Given the description of an element on the screen output the (x, y) to click on. 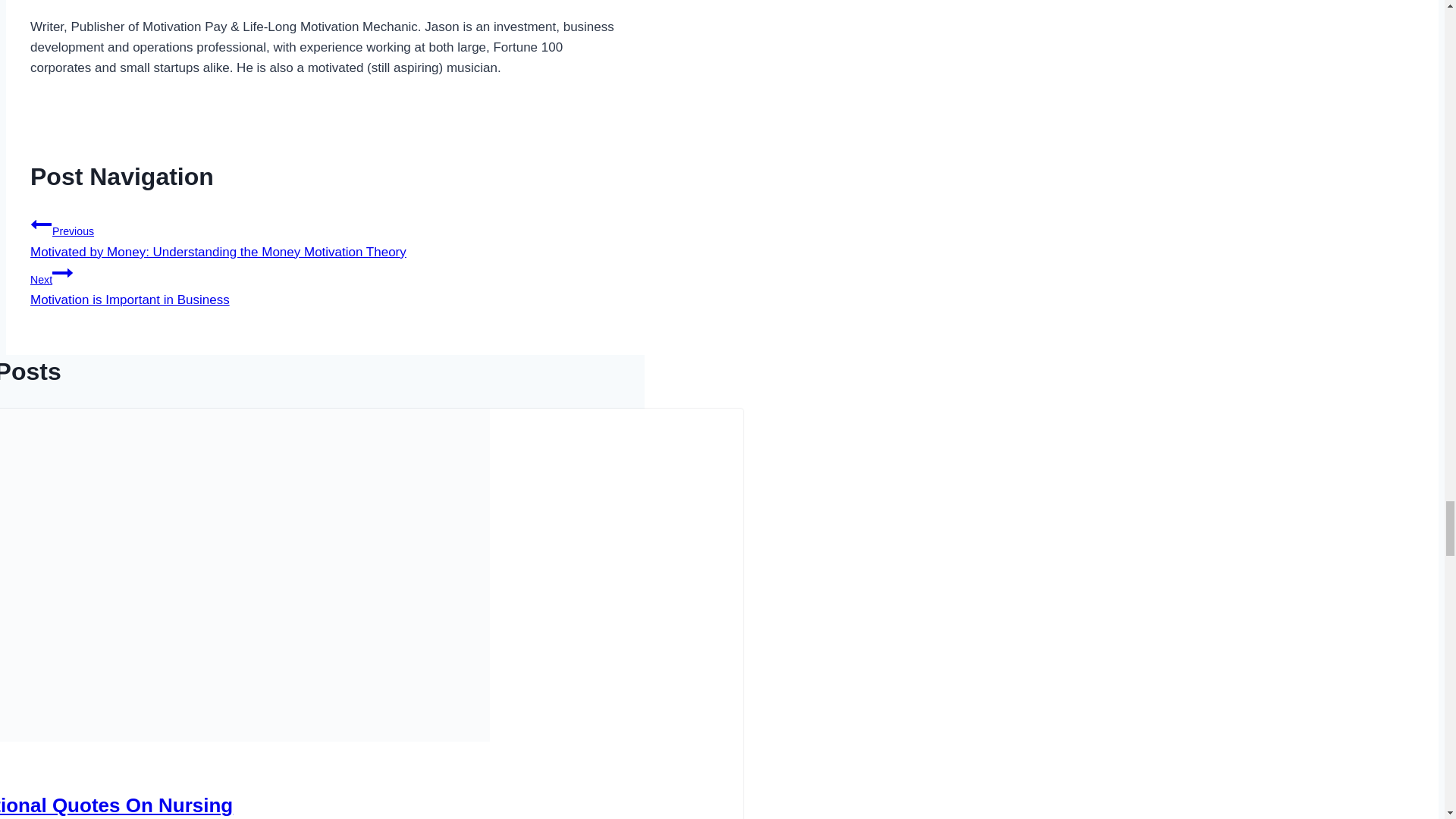
Continue (62, 272)
Motivational Quotes On Nursing (116, 804)
Posts by Jason Paul (325, 284)
Jason Paul (64, 0)
Previous (64, 0)
